Given the description of an element on the screen output the (x, y) to click on. 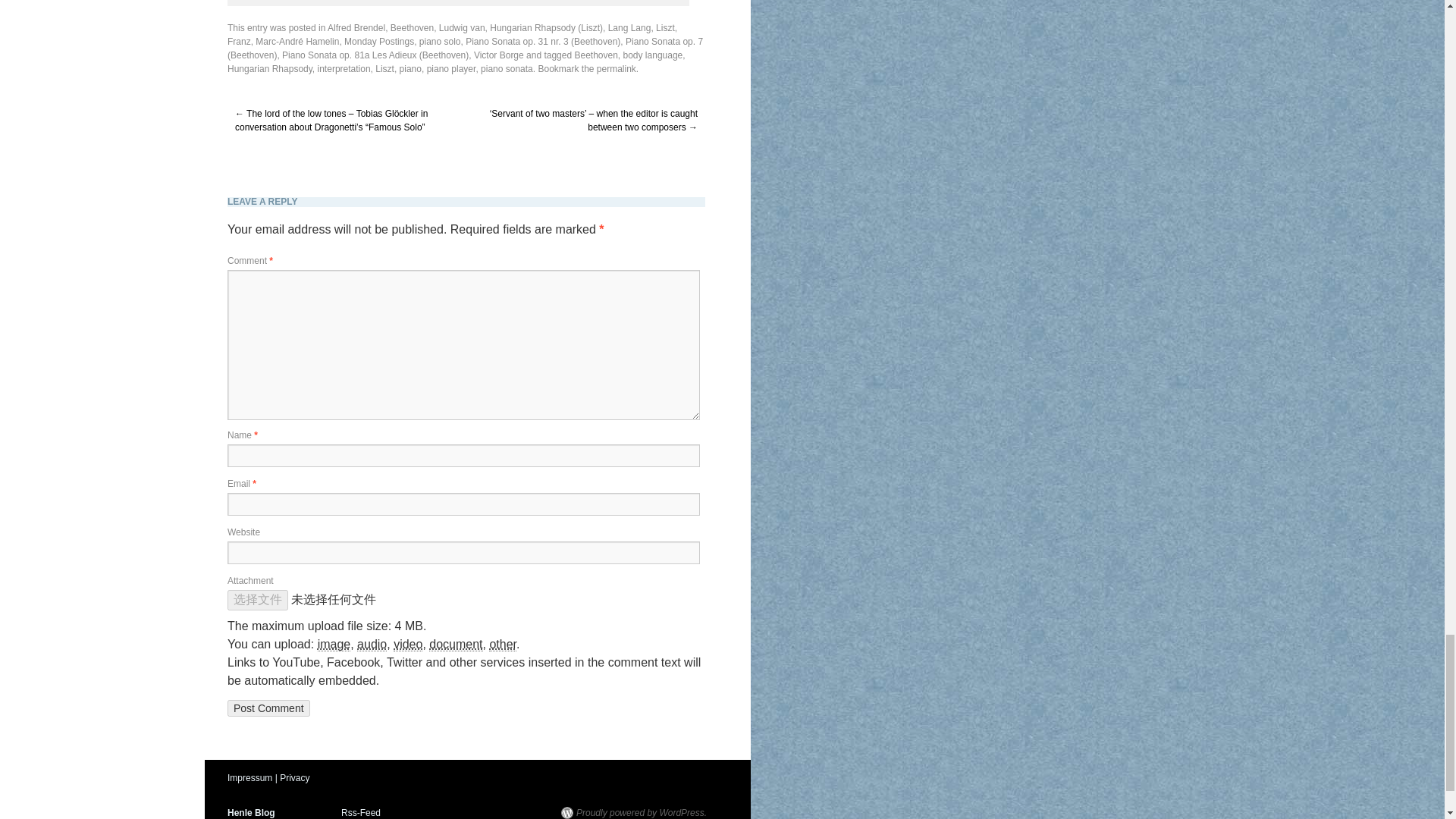
Liszt (384, 68)
Henle Blog (251, 812)
Beethoven, Ludwig van (437, 27)
piano (410, 68)
Hungarian Rhapsody (270, 68)
Semantic Personal Publishing Platform (633, 812)
Victor Borge (499, 54)
jpg, jpeg, jpe, png, gif (333, 644)
Liszt, Franz (452, 34)
interpretation (344, 68)
